Given the description of an element on the screen output the (x, y) to click on. 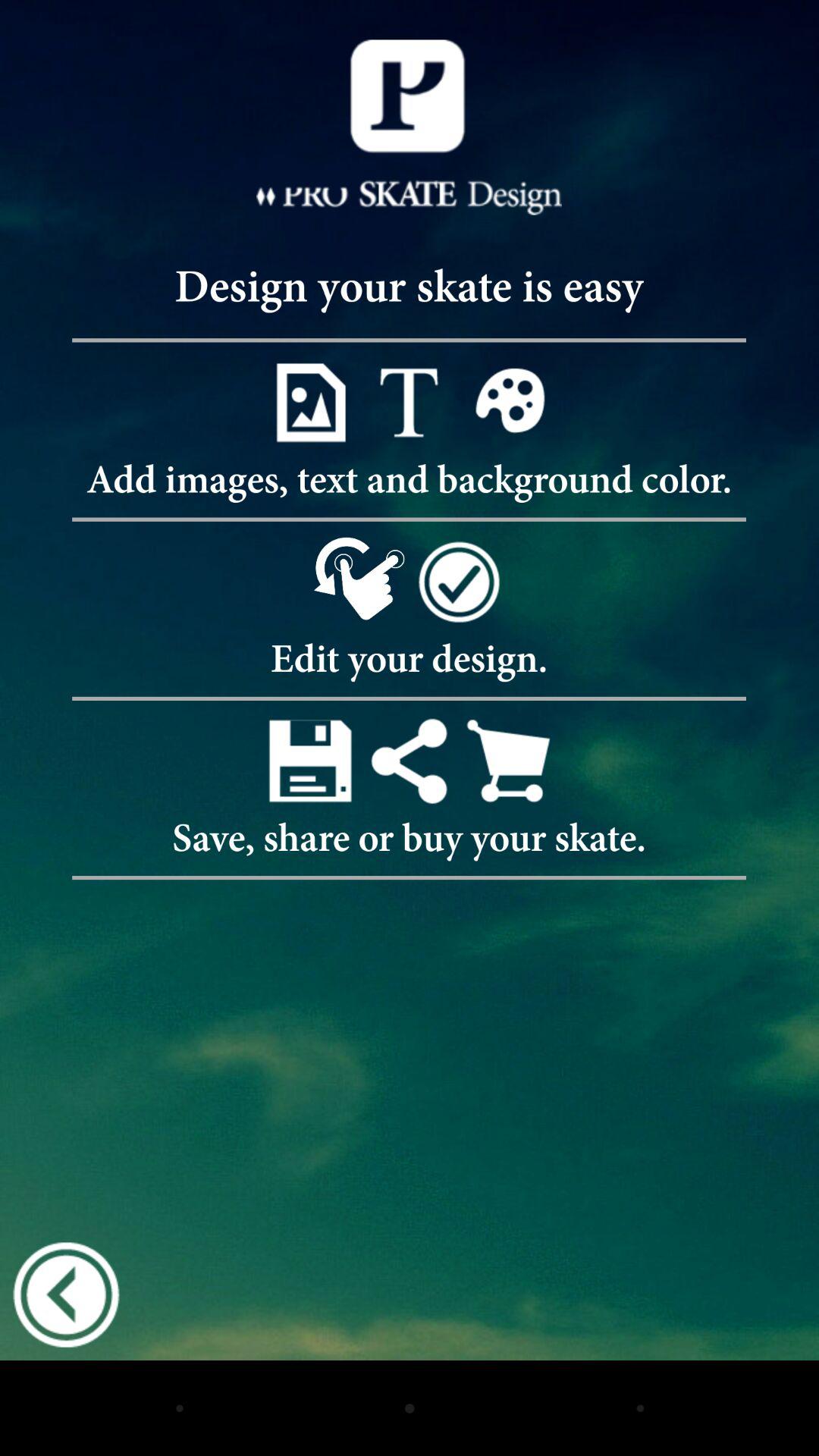
add image (309, 402)
